Given the description of an element on the screen output the (x, y) to click on. 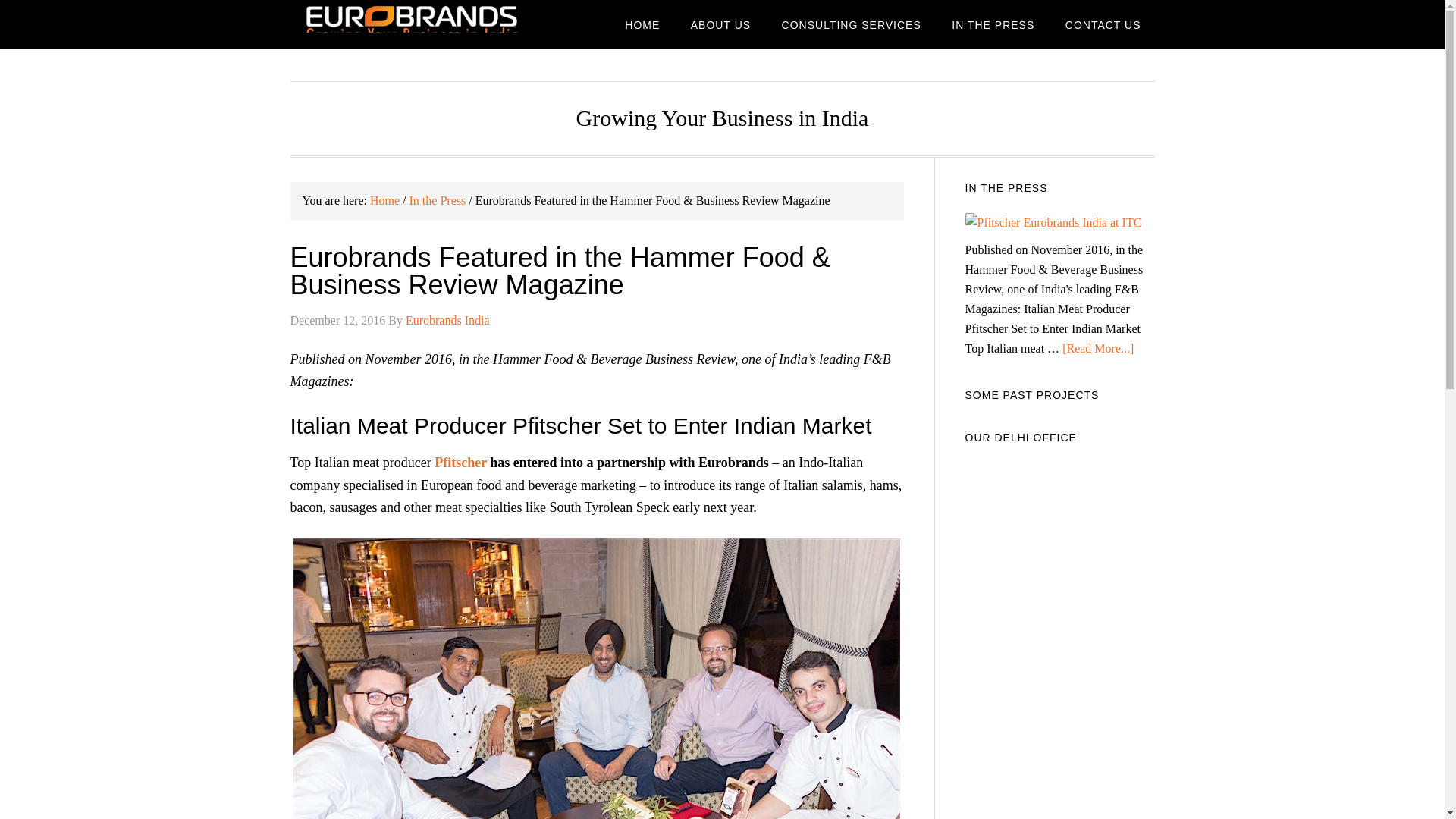
CONTACT US (1102, 24)
IN THE PRESS (992, 24)
In the Press (437, 200)
ABOUT US (720, 24)
CONSULTING SERVICES (851, 24)
HOME (641, 24)
Pfitscher (459, 462)
Home (383, 200)
Eurobrands India (447, 319)
